Given the description of an element on the screen output the (x, y) to click on. 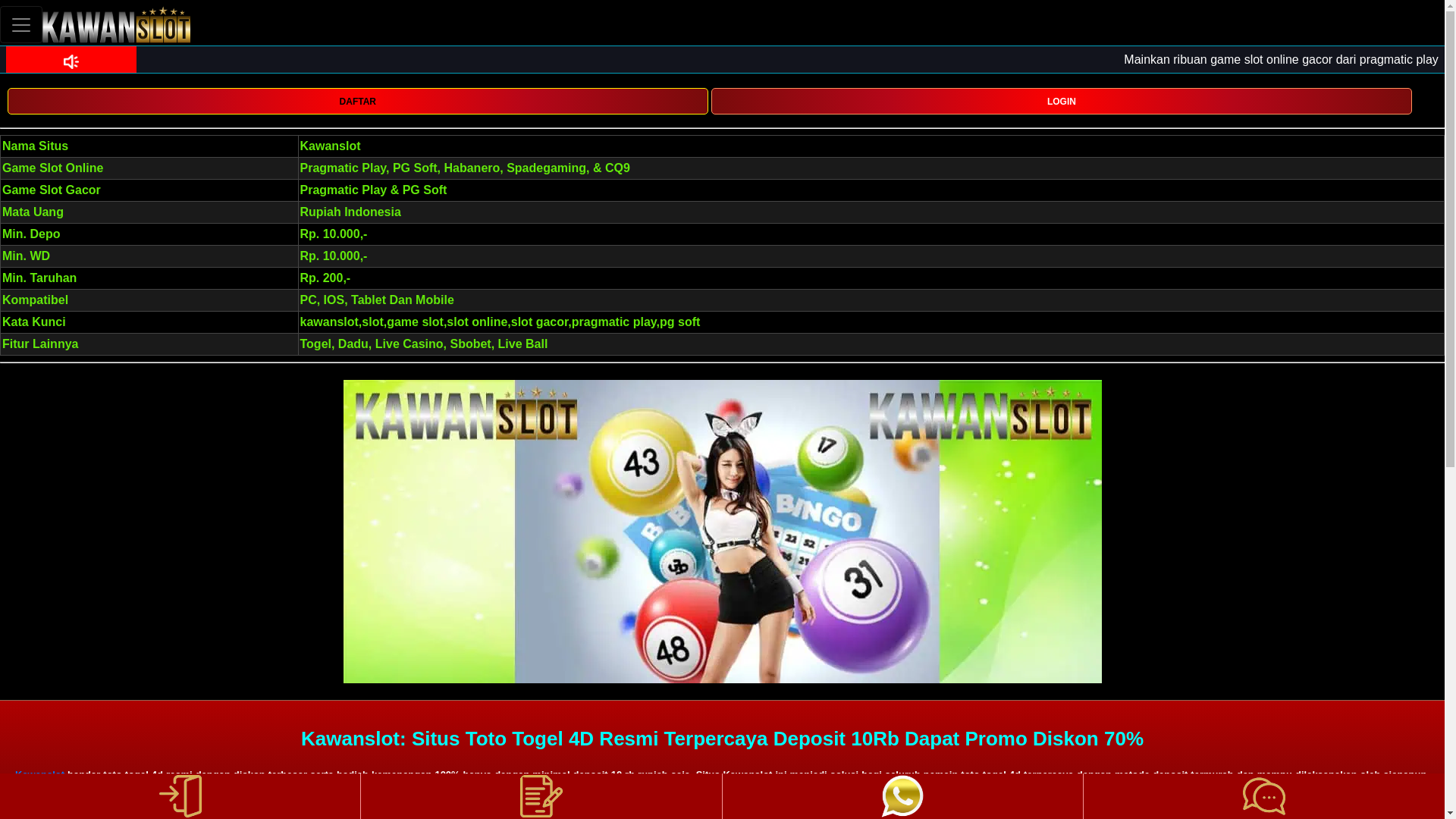
LOGIN (1061, 100)
Kawanslot (39, 774)
DAFTAR (357, 100)
LOGIN (1061, 100)
DAFTAR (357, 100)
